Given the description of an element on the screen output the (x, y) to click on. 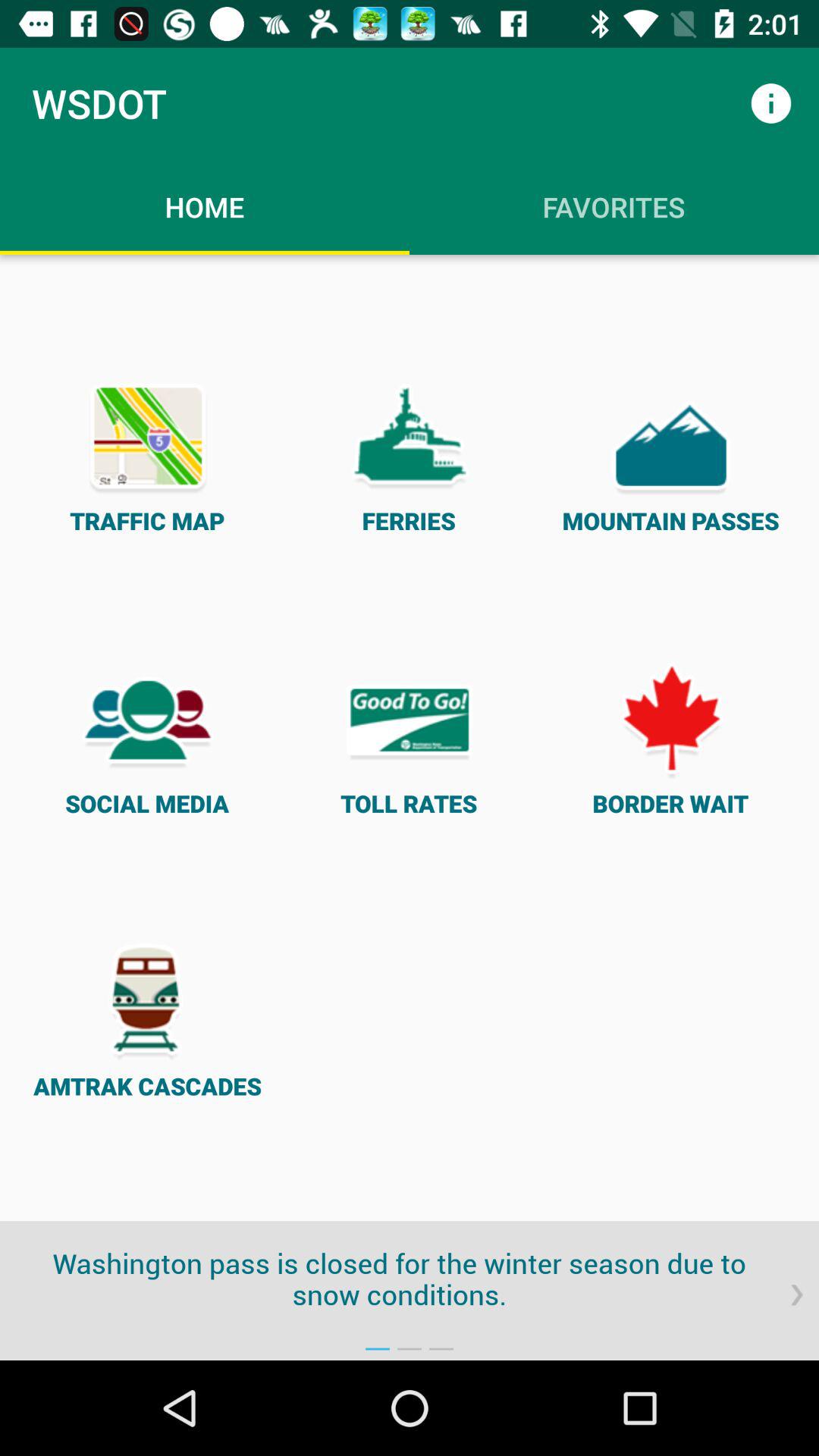
press item above the mountain passes item (771, 103)
